Given the description of an element on the screen output the (x, y) to click on. 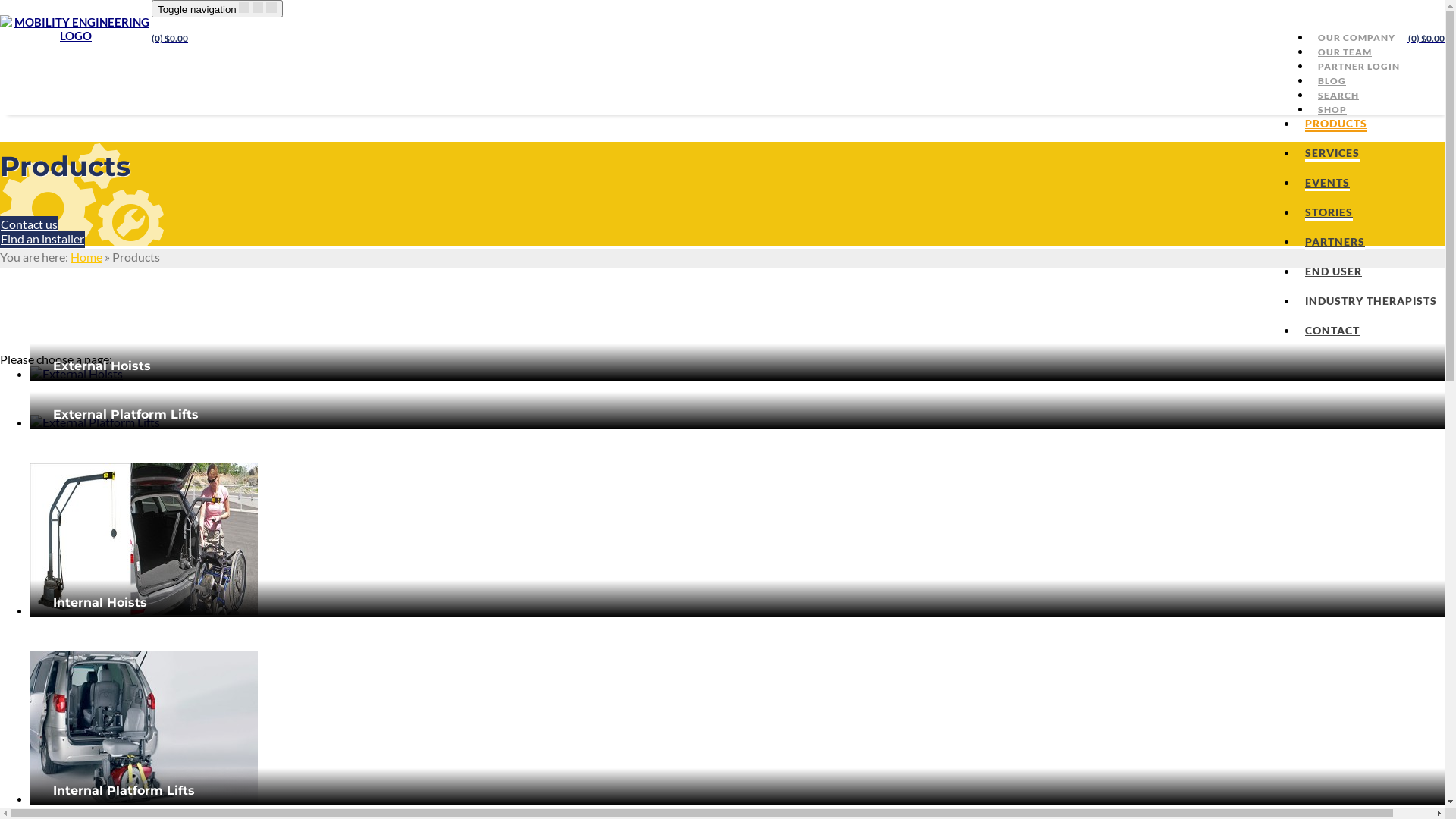
CONTACT Element type: text (1332, 330)
SHOP Element type: text (1332, 109)
Find an installer Element type: text (42, 238)
BLOG Element type: text (1331, 80)
EVENTS Element type: text (1327, 183)
STORIES Element type: text (1328, 212)
PRODUCTS Element type: text (1336, 123)
Toggle navigation Element type: text (216, 8)
SEARCH Element type: text (1338, 94)
(0) $0.00 Element type: text (1425, 38)
Home Element type: text (86, 256)
PARTNER LOGIN Element type: text (1358, 65)
INDUSTRY THERAPISTS Element type: text (1371, 301)
PARTNERS Element type: text (1335, 242)
SERVICES Element type: text (1332, 153)
END USER Element type: text (1333, 271)
OUR COMPANY Element type: text (1356, 37)
Contact us Element type: text (29, 224)
(0) $0.00 Element type: text (169, 38)
OUR TEAM Element type: text (1344, 51)
